Given the description of an element on the screen output the (x, y) to click on. 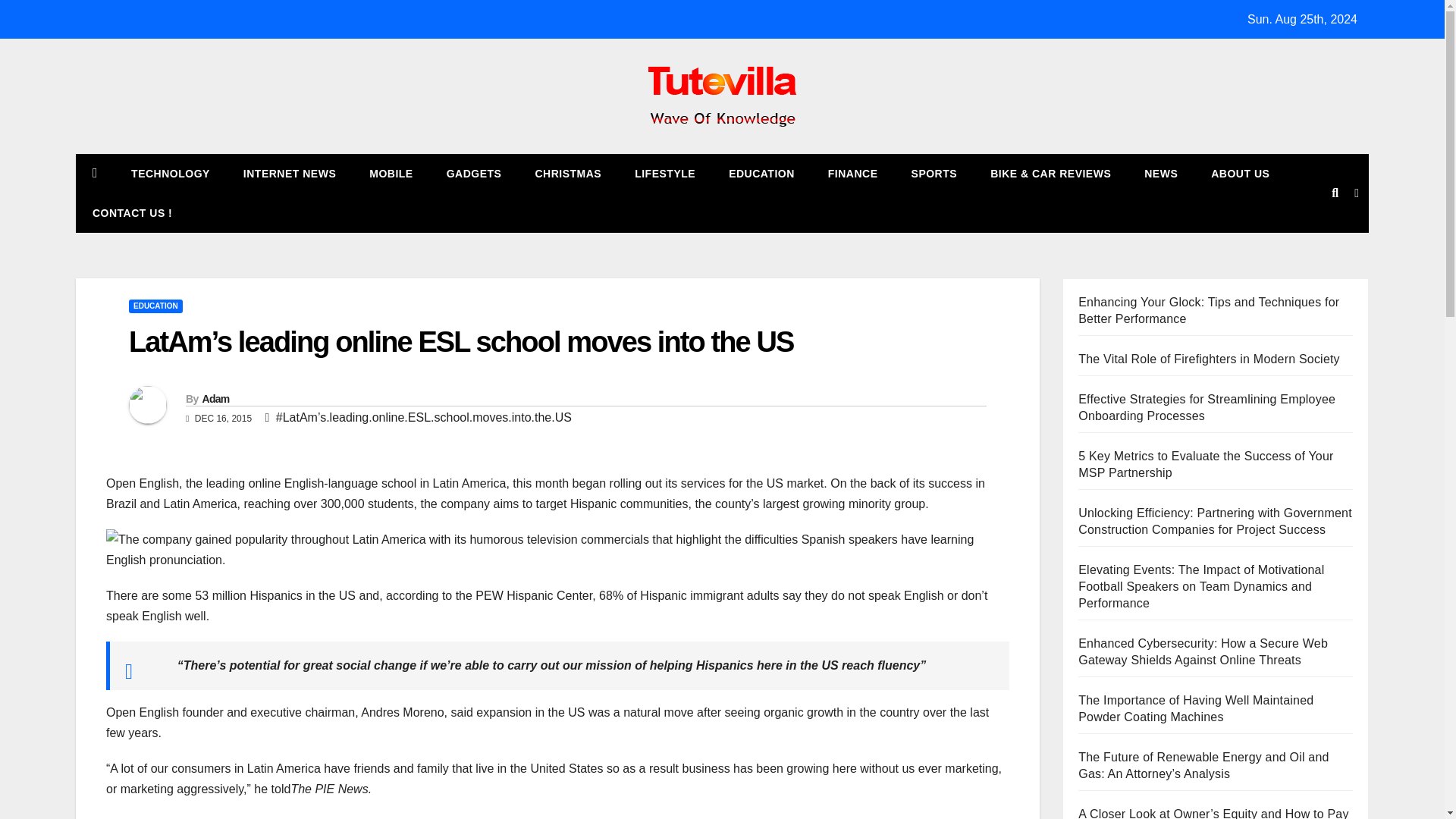
Lifestyle (664, 173)
Gadgets (473, 173)
Education (760, 173)
Adam (215, 398)
christmas (567, 173)
CONTACT US ! (132, 212)
FINANCE (852, 173)
Technology (171, 173)
About Us (1239, 173)
Mobile (390, 173)
